Given the description of an element on the screen output the (x, y) to click on. 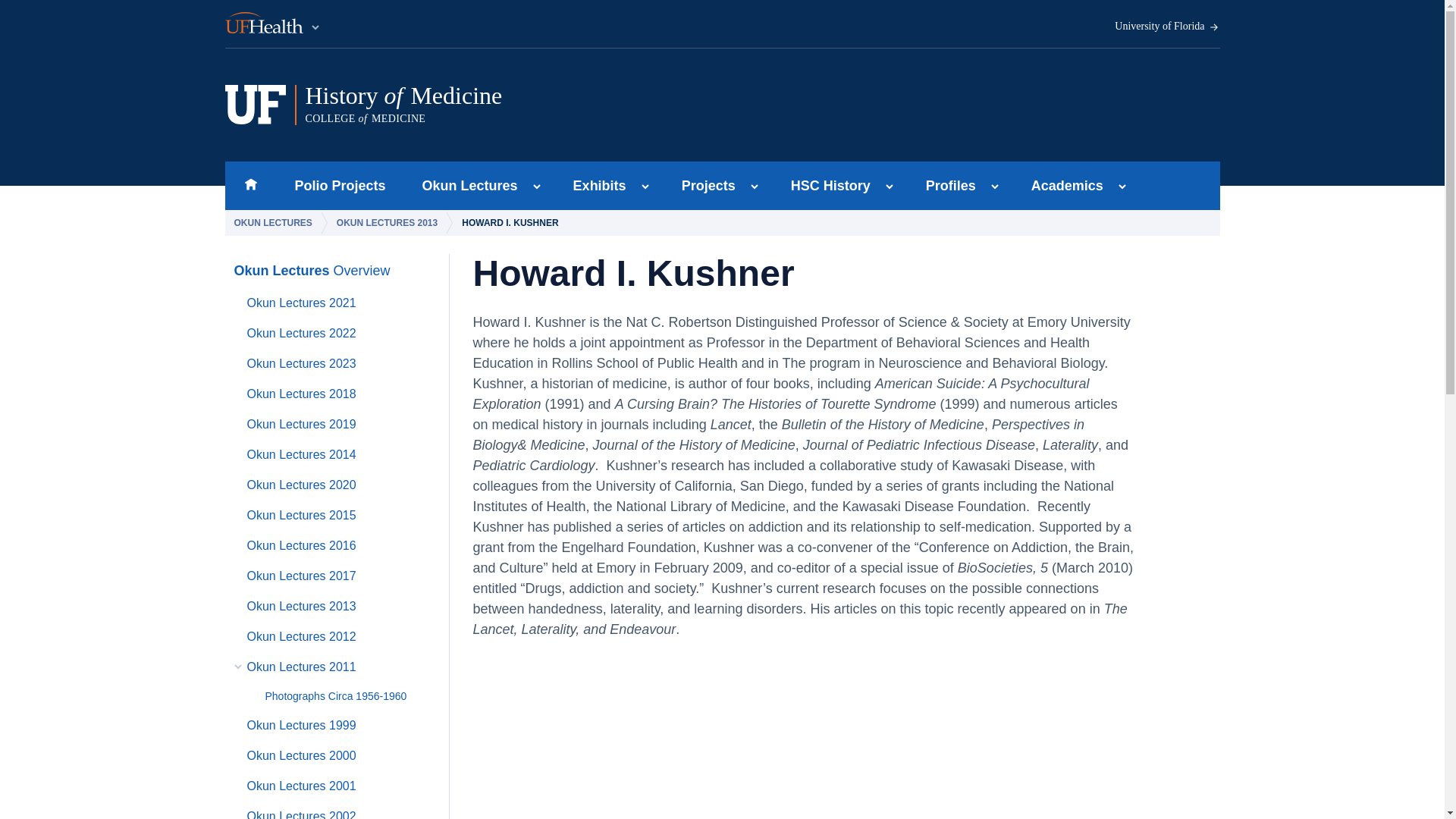
University of Florida (1167, 26)
Polio Projects (339, 185)
Home (515, 105)
Skip to main content (250, 185)
Okun Lectures (594, 185)
UF Health (465, 185)
